Given the description of an element on the screen output the (x, y) to click on. 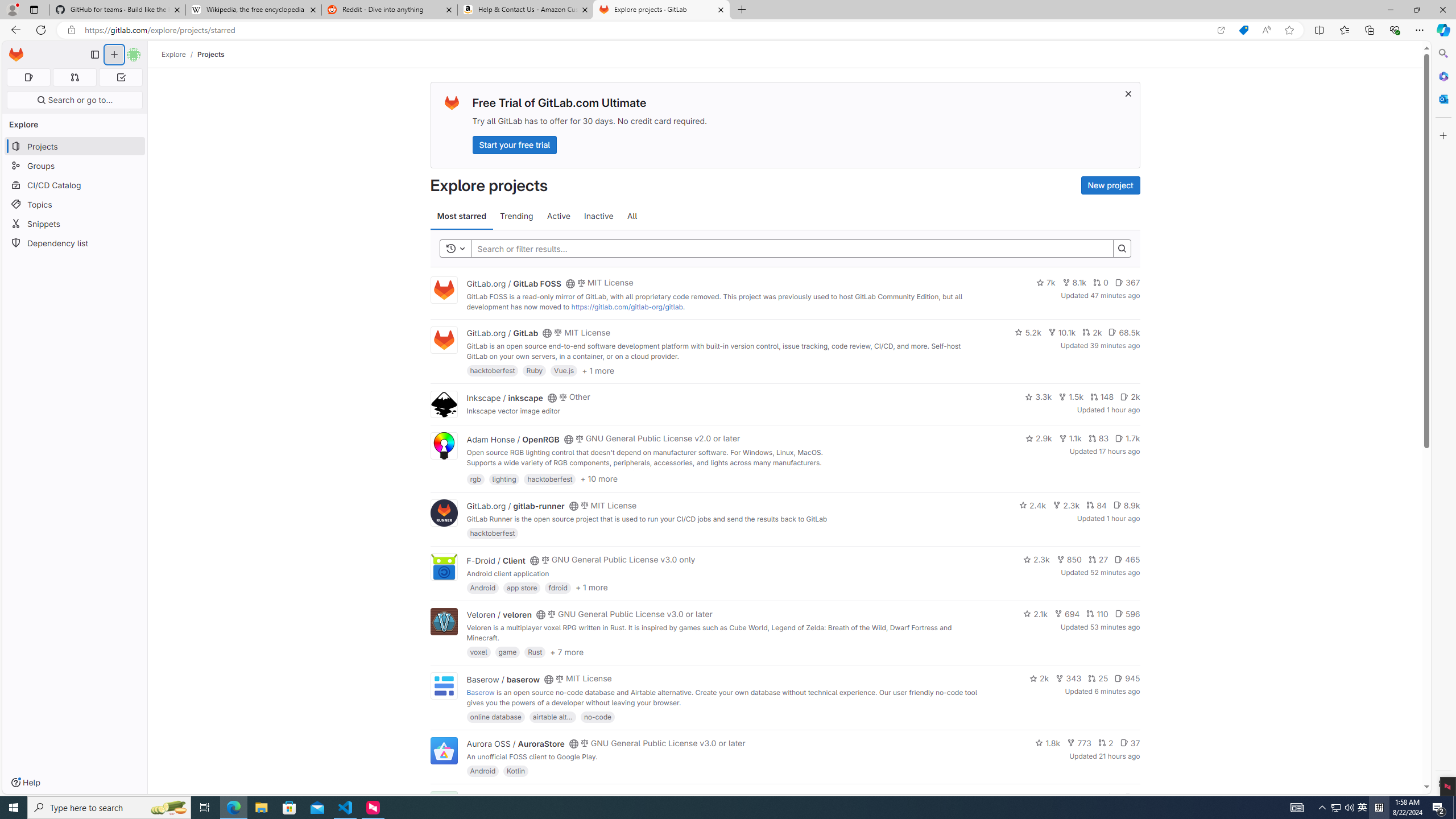
Snippets (74, 223)
no-code (597, 715)
airtable alt... (552, 715)
Baserow (480, 691)
2.9k (1038, 438)
hacktoberfest (492, 533)
Start your free trial (514, 144)
New project (1110, 185)
